Given the description of an element on the screen output the (x, y) to click on. 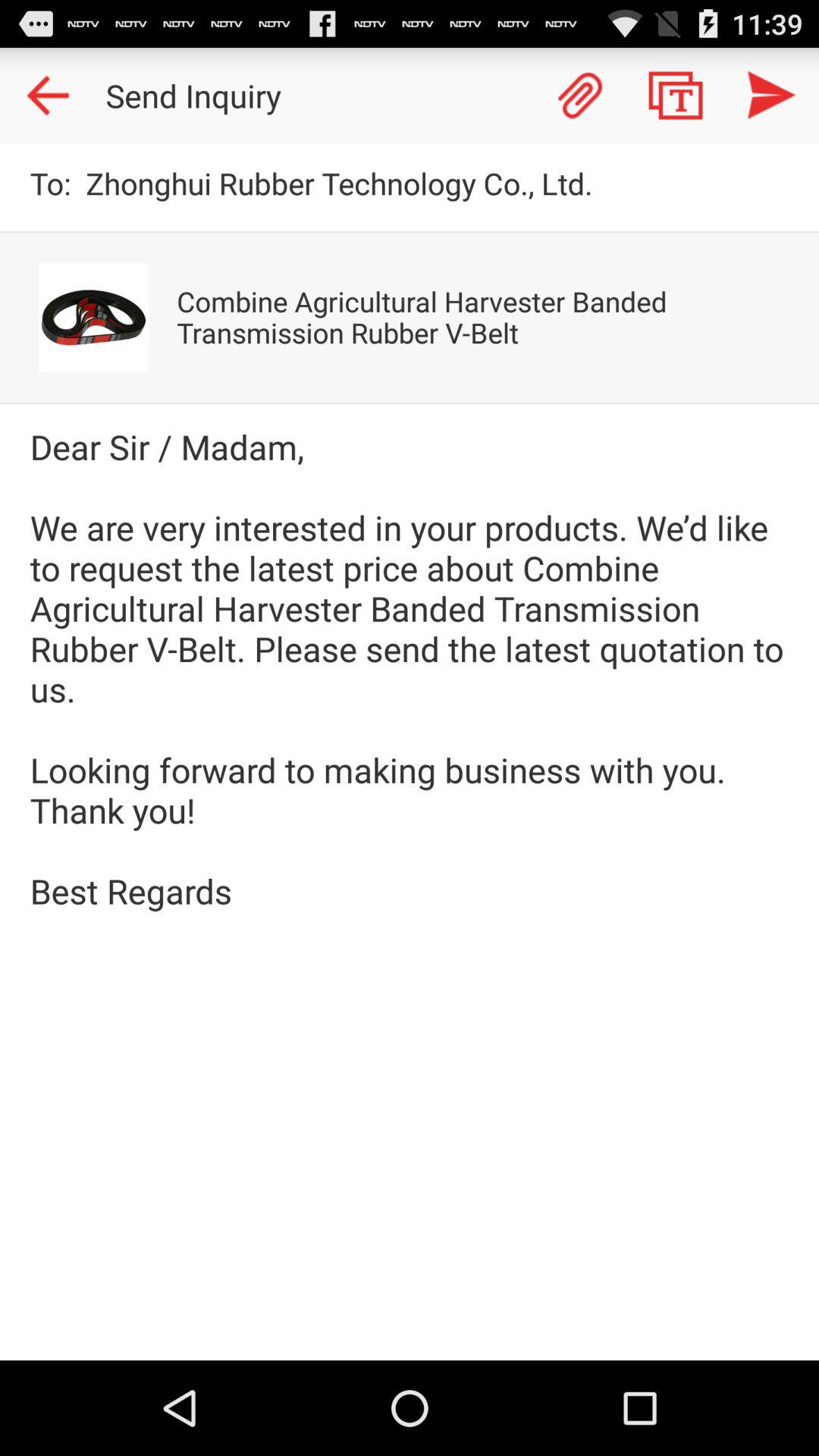
add attachment (579, 95)
